Given the description of an element on the screen output the (x, y) to click on. 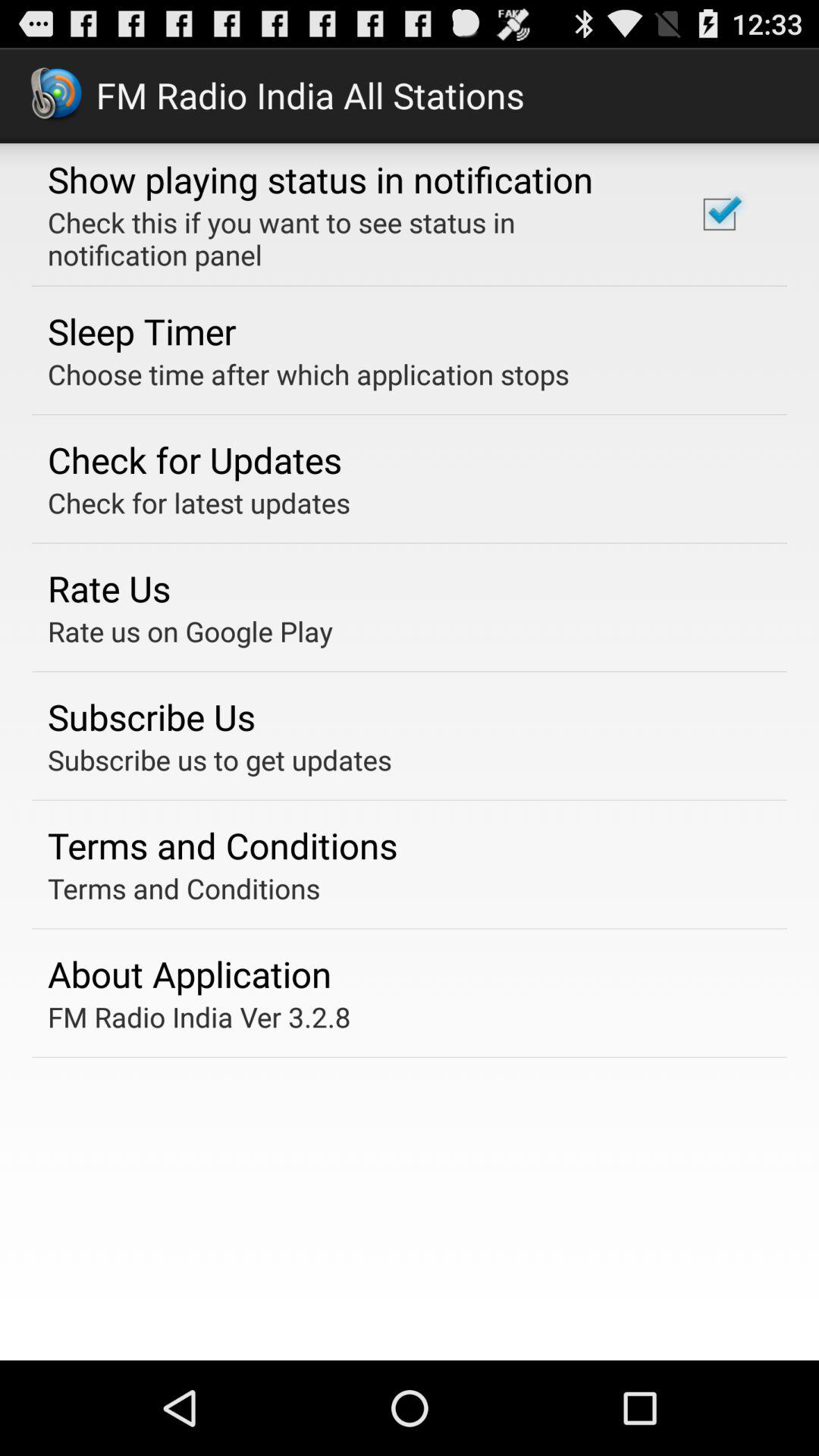
choose app above the sleep timer app (351, 238)
